Given the description of an element on the screen output the (x, y) to click on. 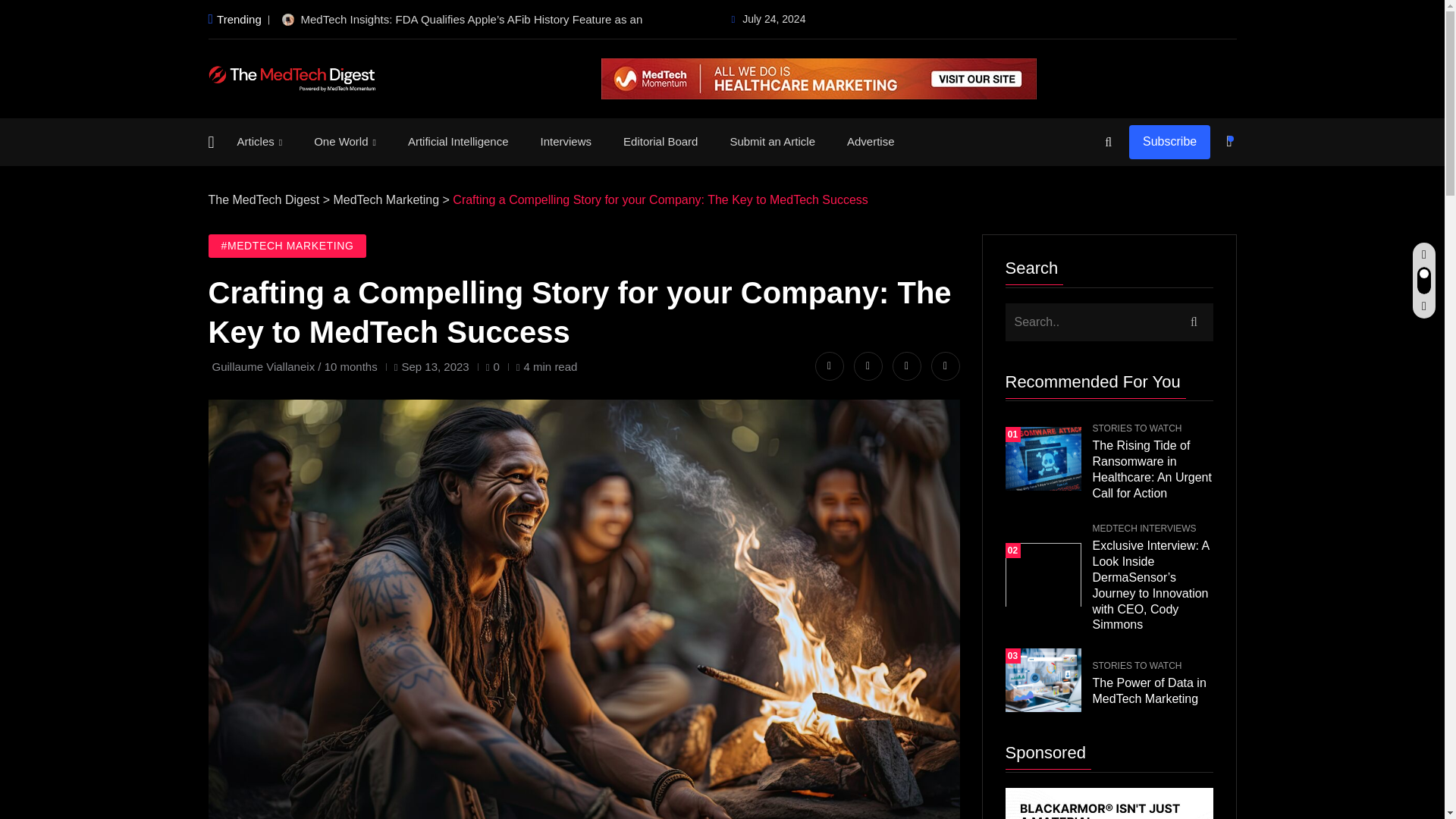
Articles (259, 141)
1 (214, 573)
Artificial Intelligence (457, 141)
Interviews (565, 141)
One World (344, 141)
Go to The MedTech Digest. (263, 199)
Go to the MedTech Marketing Category archives. (386, 199)
Medtech Momentum, schedule a meeting (818, 78)
A Digital MedTech Marketing company (656, 773)
